Given the description of an element on the screen output the (x, y) to click on. 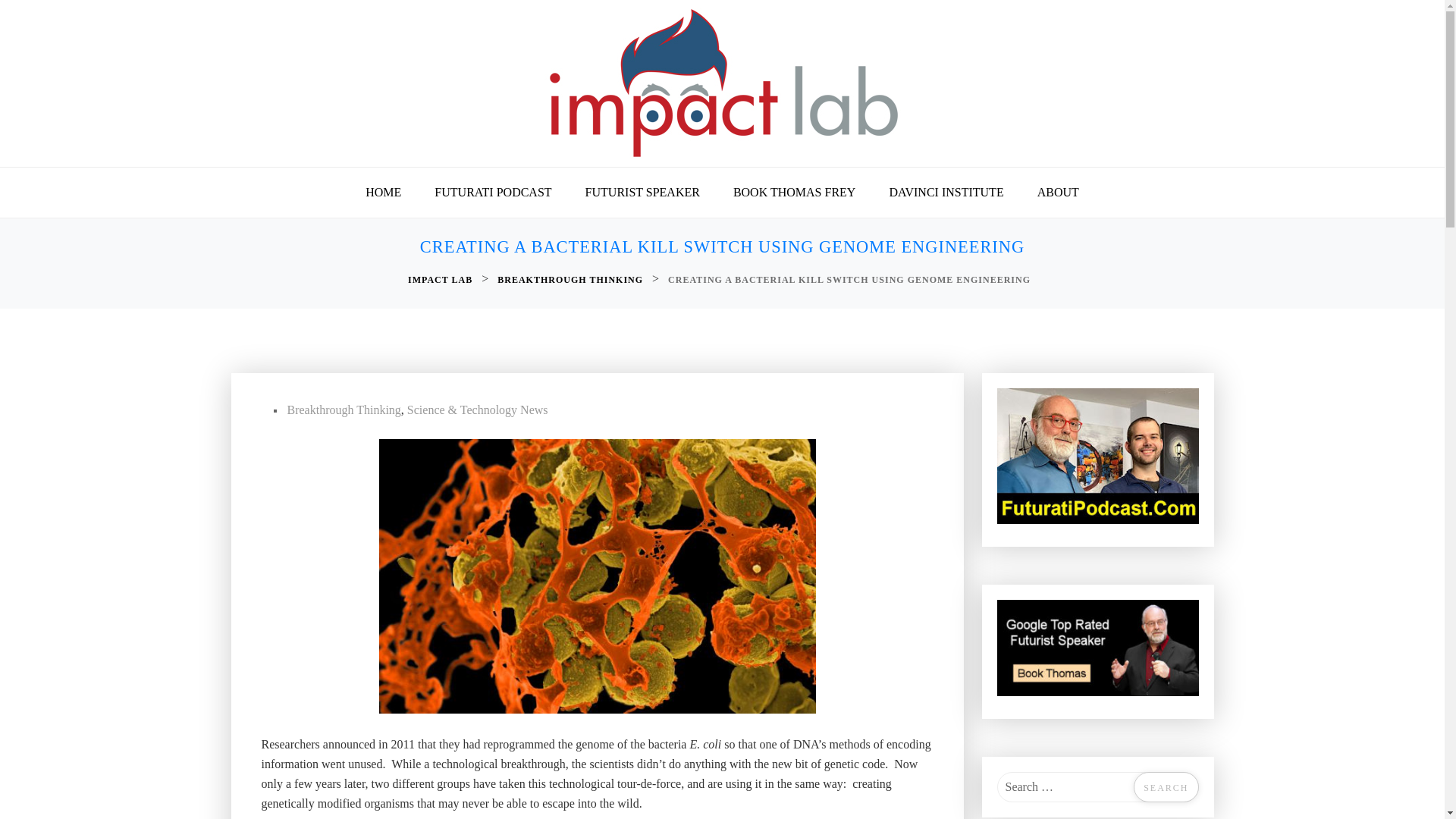
DAVINCI INSTITUTE (945, 192)
FUTURATI PODCAST (492, 192)
BOOK THOMAS FREY (793, 192)
Search (1166, 787)
Search (1166, 787)
HOME (383, 192)
Search (1166, 787)
Go to the Breakthrough Thinking Category archives. (571, 279)
Go to Impact Lab. (441, 279)
IMPACT LAB (441, 279)
